Given the description of an element on the screen output the (x, y) to click on. 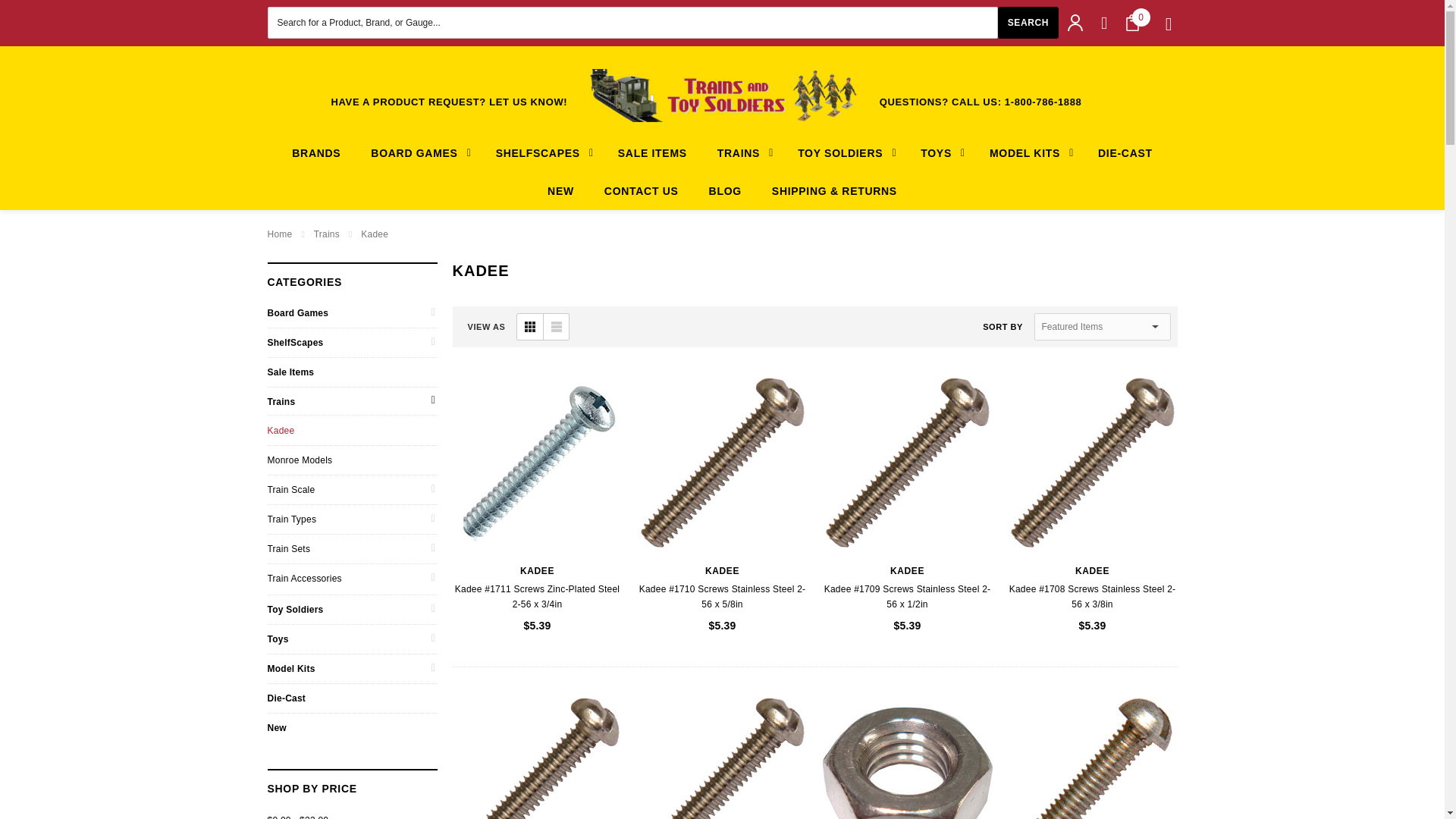
My Account (1075, 22)
Trains And Toy Soldiers (722, 95)
Search (1027, 22)
